Given the description of an element on the screen output the (x, y) to click on. 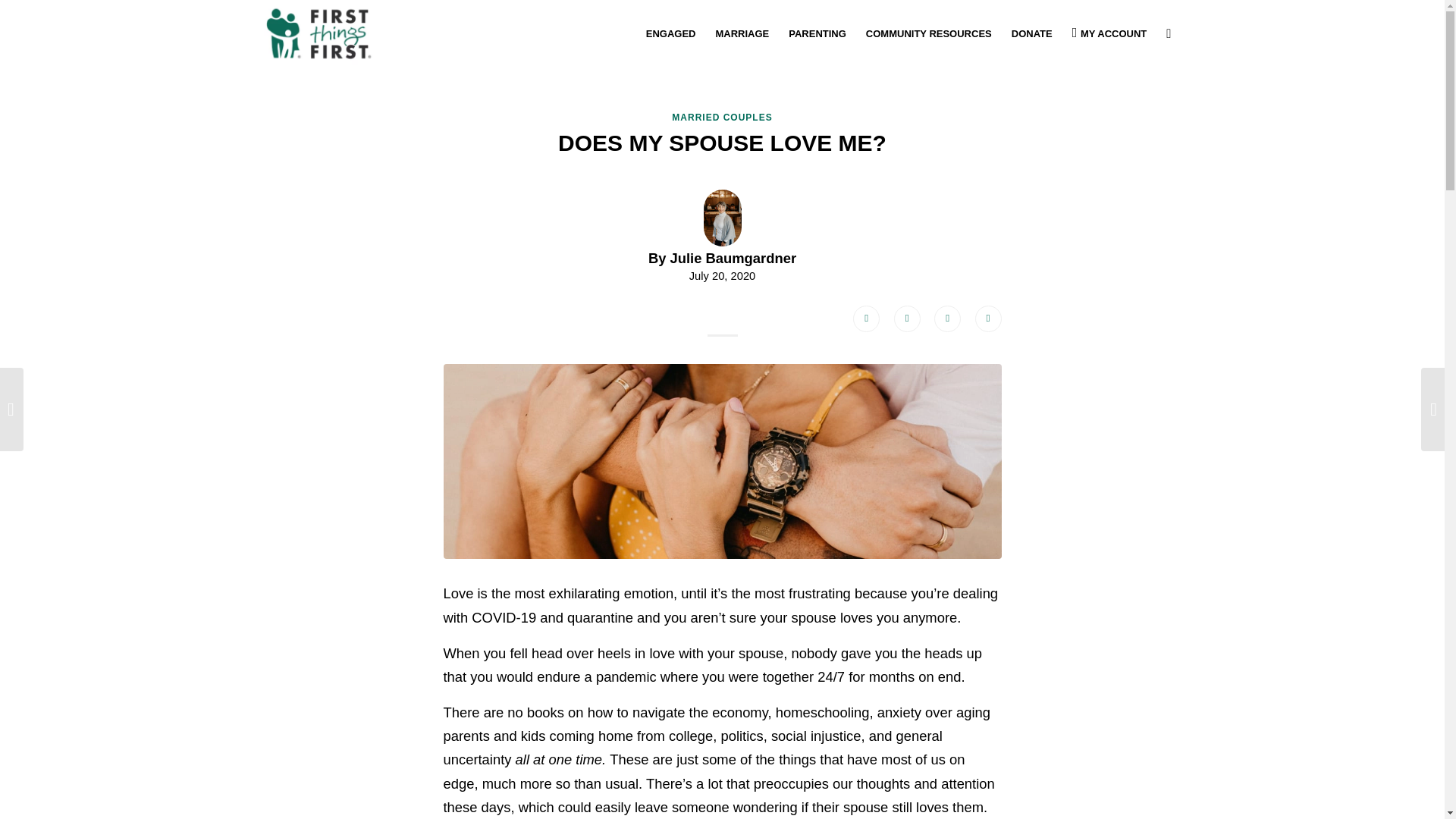
Share on LinkedIn (947, 318)
PARENTING (817, 33)
MY ACCOUNT (1109, 33)
Share via Email (988, 318)
MARRIED COUPLES (721, 117)
Share on Twitter (906, 318)
Share on Facebook (721, 236)
couple-embracing-3156993 (866, 318)
ENGAGED (721, 462)
